Given the description of an element on the screen output the (x, y) to click on. 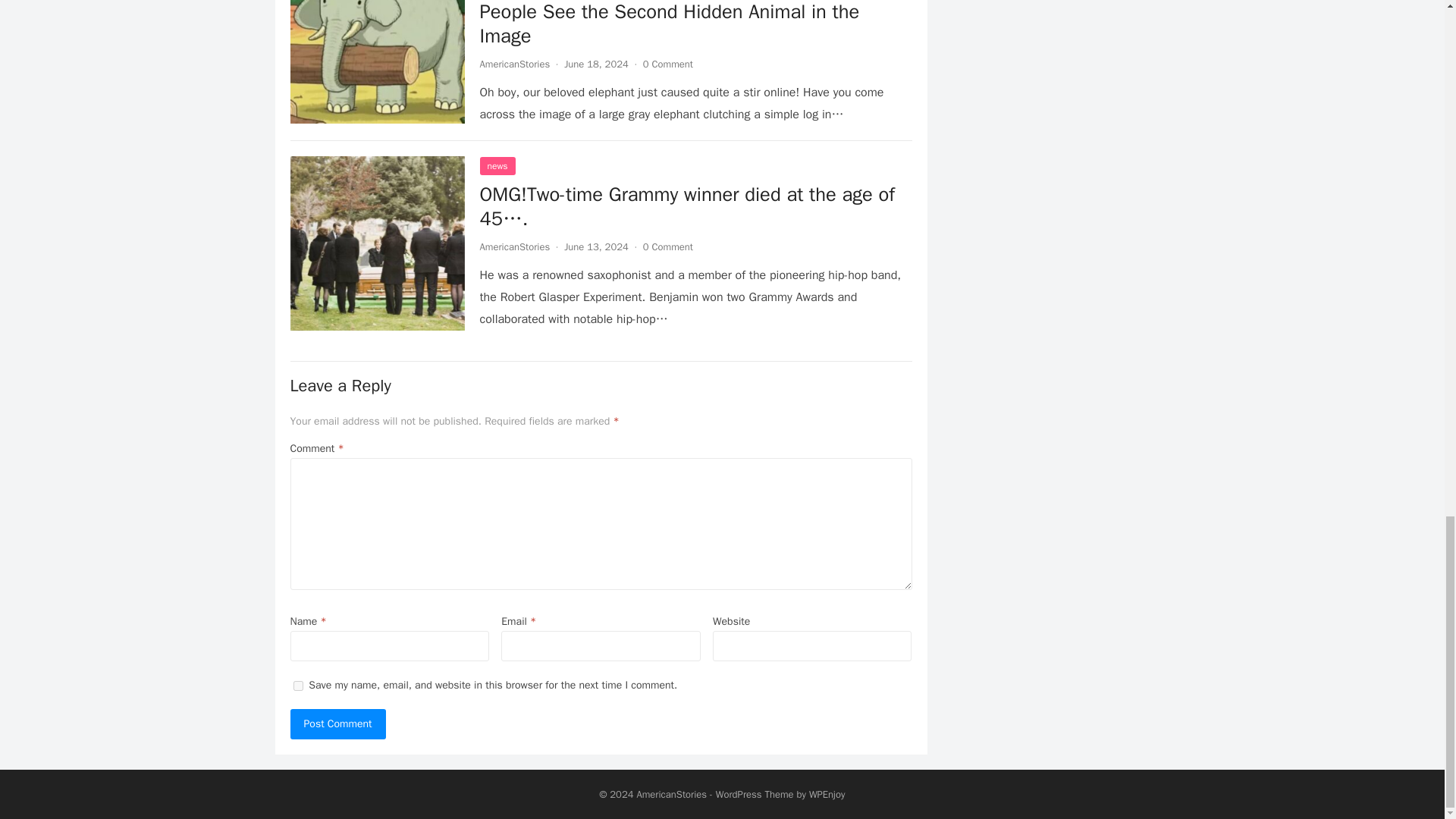
Post Comment (337, 724)
0 Comment (668, 63)
news (497, 166)
yes (297, 685)
AmericanStories (514, 63)
Posts by AmericanStories (514, 63)
Posts by AmericanStories (514, 246)
